Given the description of an element on the screen output the (x, y) to click on. 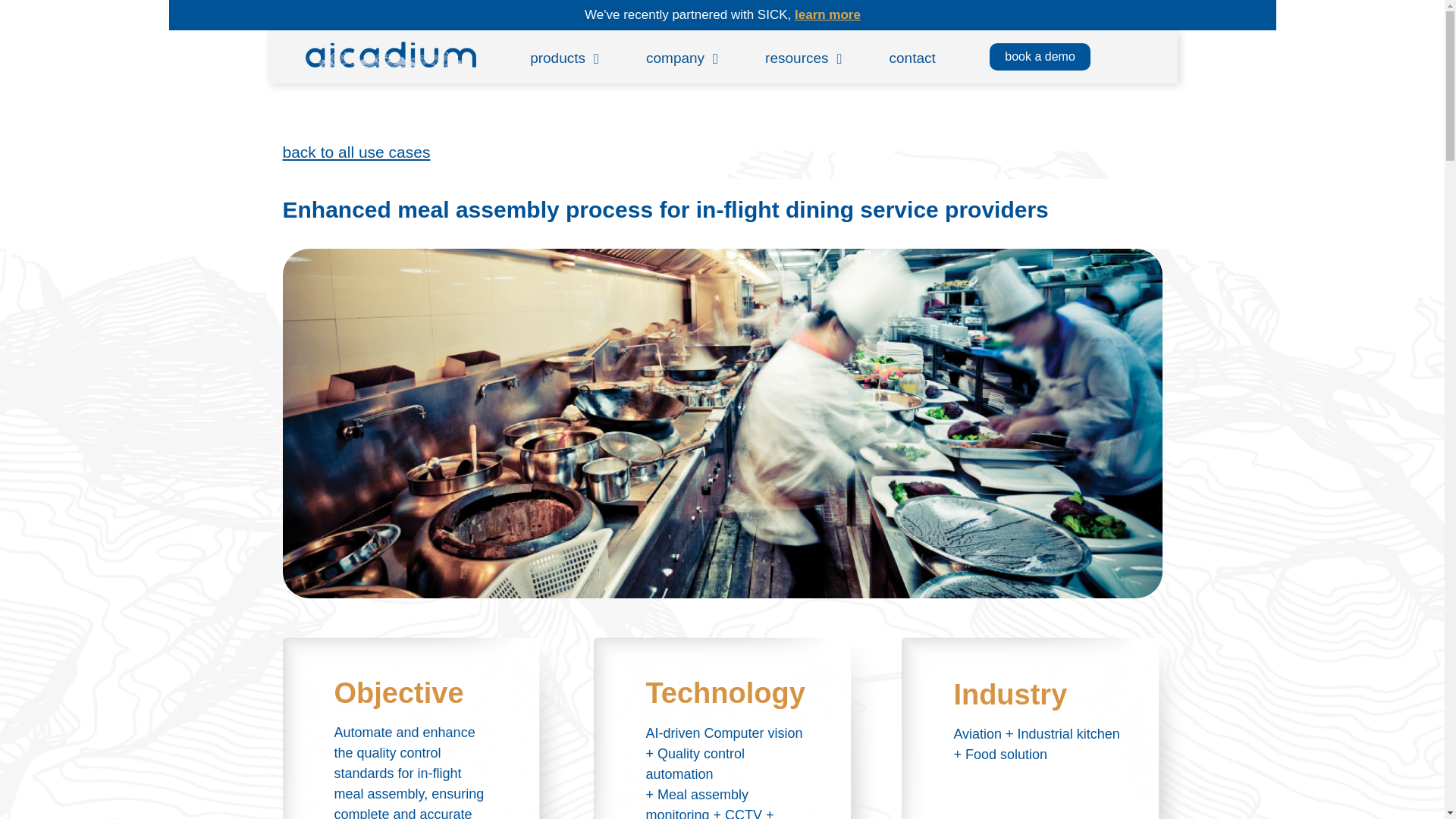
Embedded CTA (721, 15)
contact (912, 58)
book a demo (1040, 56)
